Given the description of an element on the screen output the (x, y) to click on. 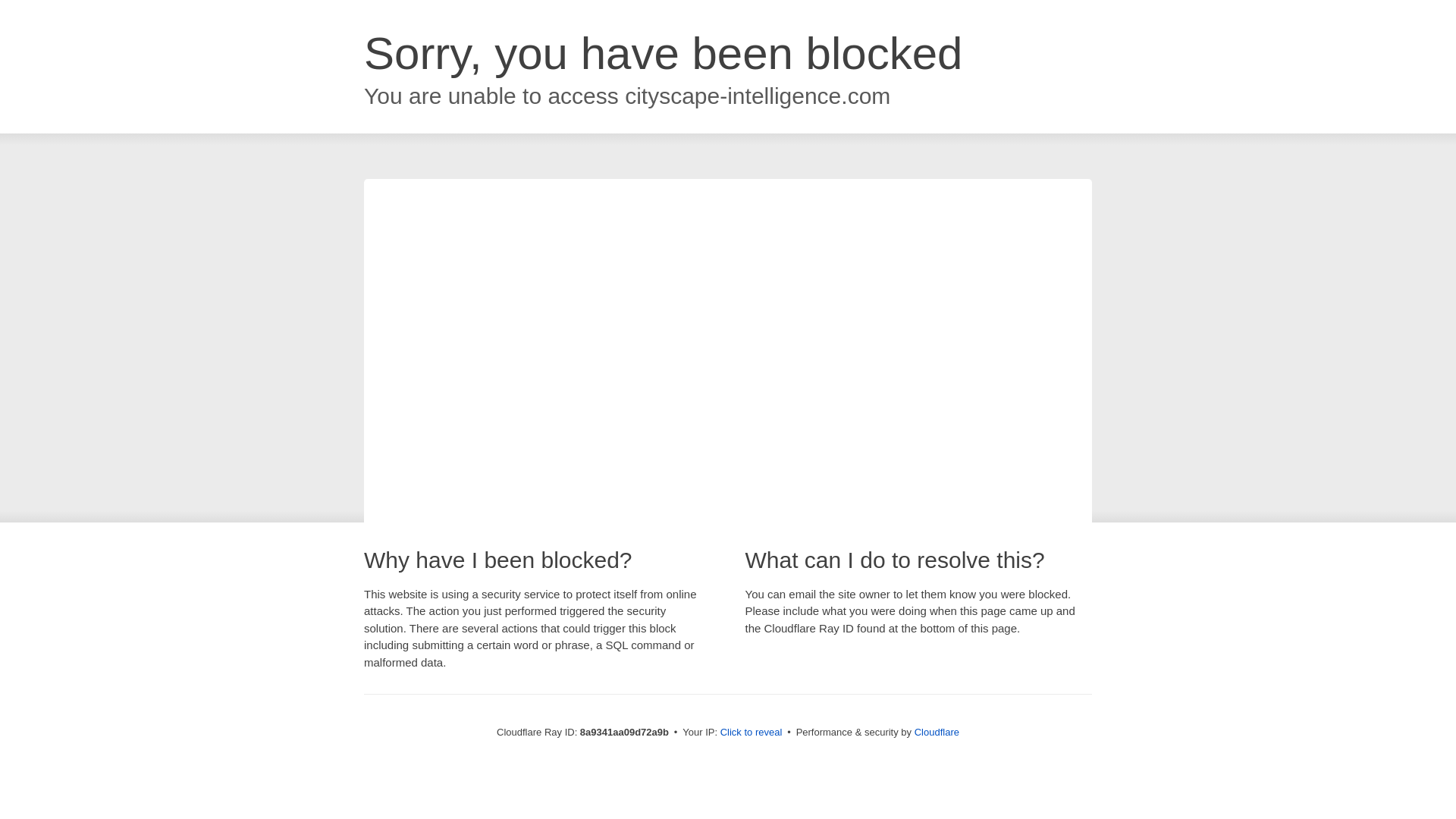
Cloudflare (936, 731)
Click to reveal (751, 732)
